Given the description of an element on the screen output the (x, y) to click on. 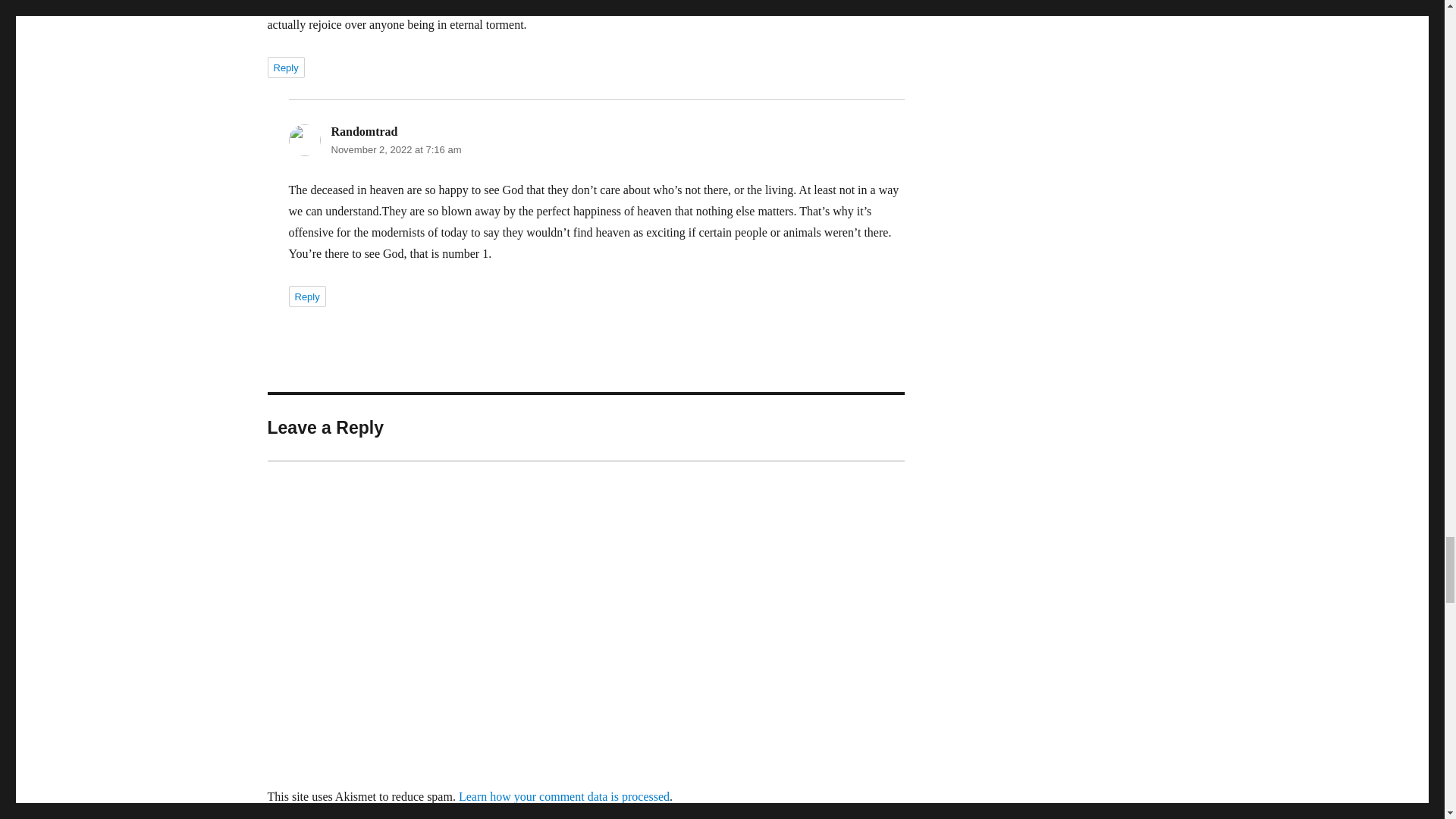
Reply (306, 296)
Learn how your comment data is processed (563, 796)
Reply (285, 66)
November 2, 2022 at 7:16 am (395, 149)
